Given the description of an element on the screen output the (x, y) to click on. 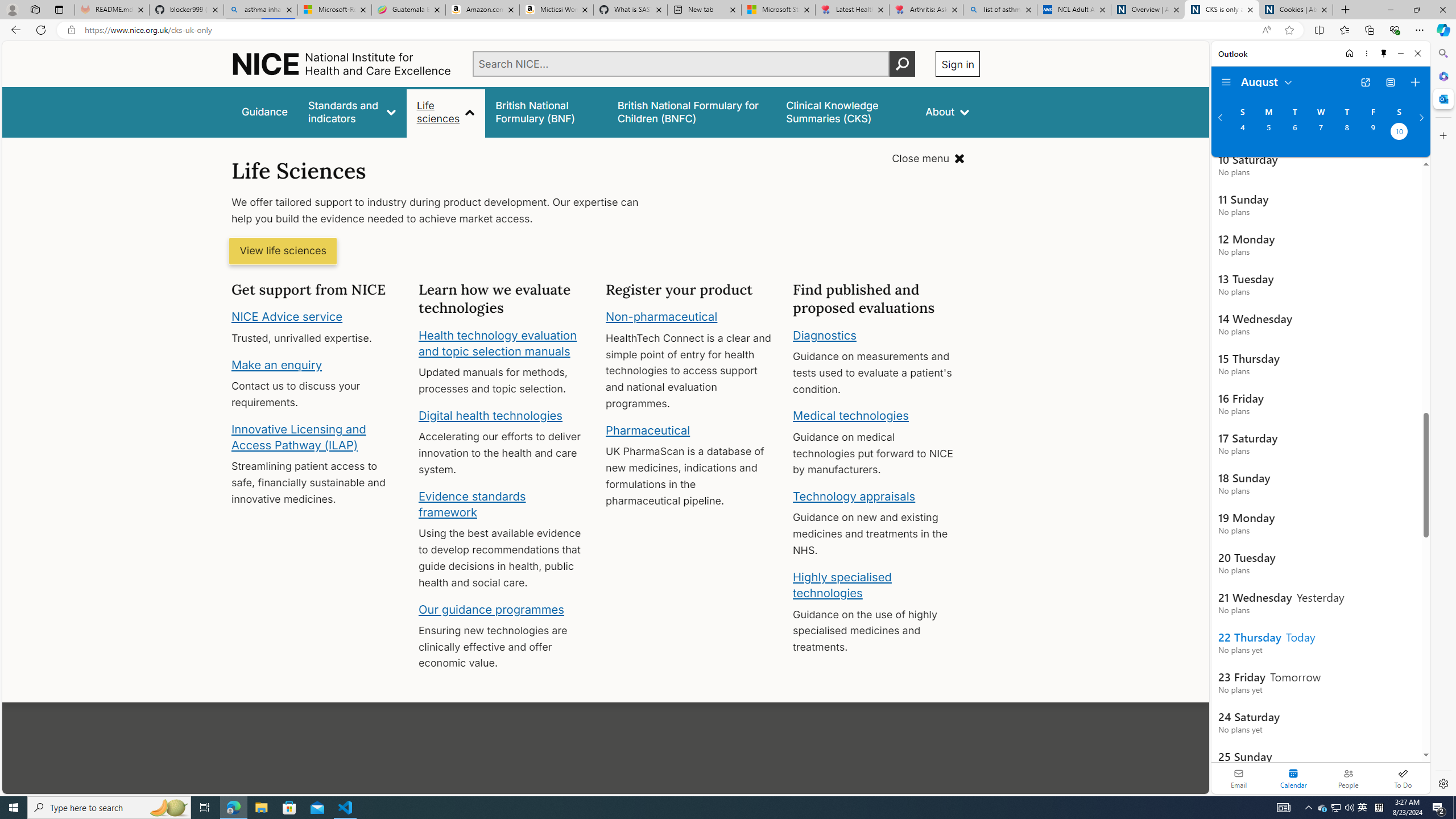
People (1347, 777)
Perform search (902, 63)
Diagnostics (824, 334)
asthma inhaler - Search (260, 9)
Non-pharmaceutical (661, 316)
Innovative Licensing and Access Pathway (ILAP) (298, 436)
Digital health technologies (490, 414)
